Given the description of an element on the screen output the (x, y) to click on. 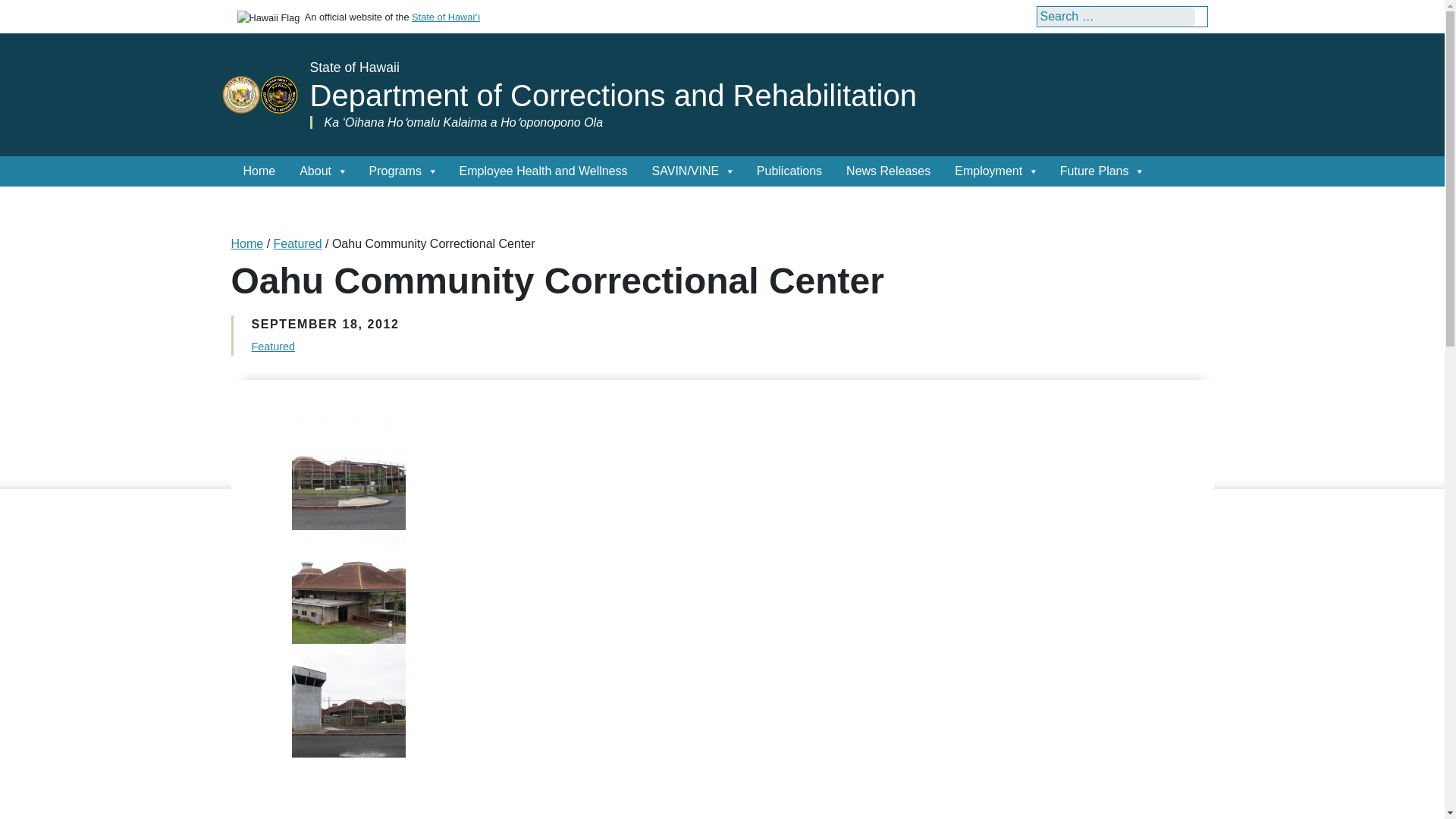
Department of Corrections and Rehabilitation (611, 95)
Home (258, 171)
Home (258, 171)
Search for: (1115, 16)
About (321, 171)
About (321, 171)
Programs (401, 171)
